Given the description of an element on the screen output the (x, y) to click on. 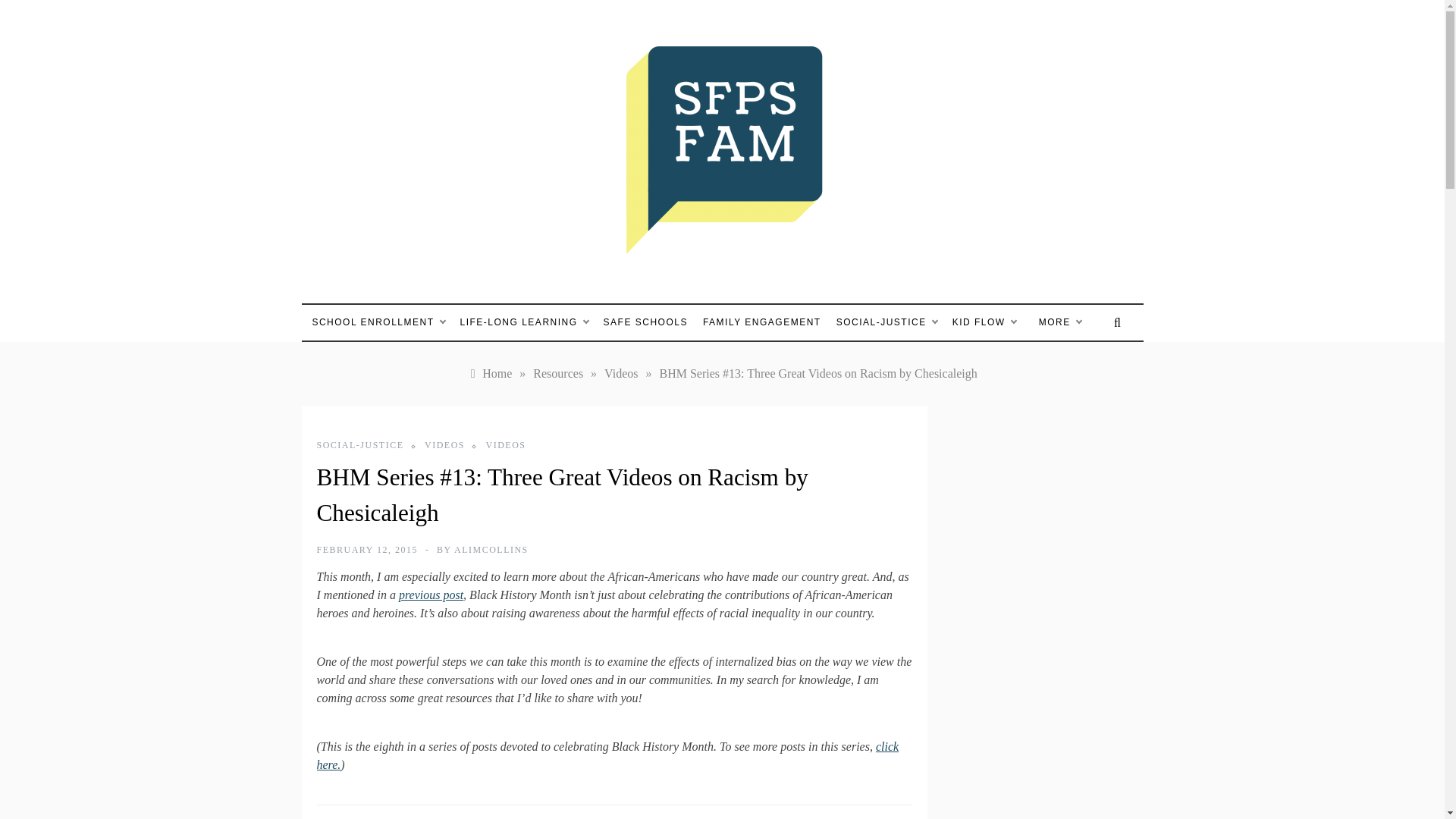
SOCIAL-JUSTICE (886, 322)
KID FLOW (983, 322)
FAMILY ENGAGEMENT (761, 322)
SAFE SCHOOLS (645, 322)
Home (489, 373)
LIFE-LONG LEARNING (523, 322)
SCHOOL ENROLLMENT (381, 322)
SFPS Mom (541, 288)
Resources (557, 373)
Videos (620, 373)
MORE (1052, 322)
